Given the description of an element on the screen output the (x, y) to click on. 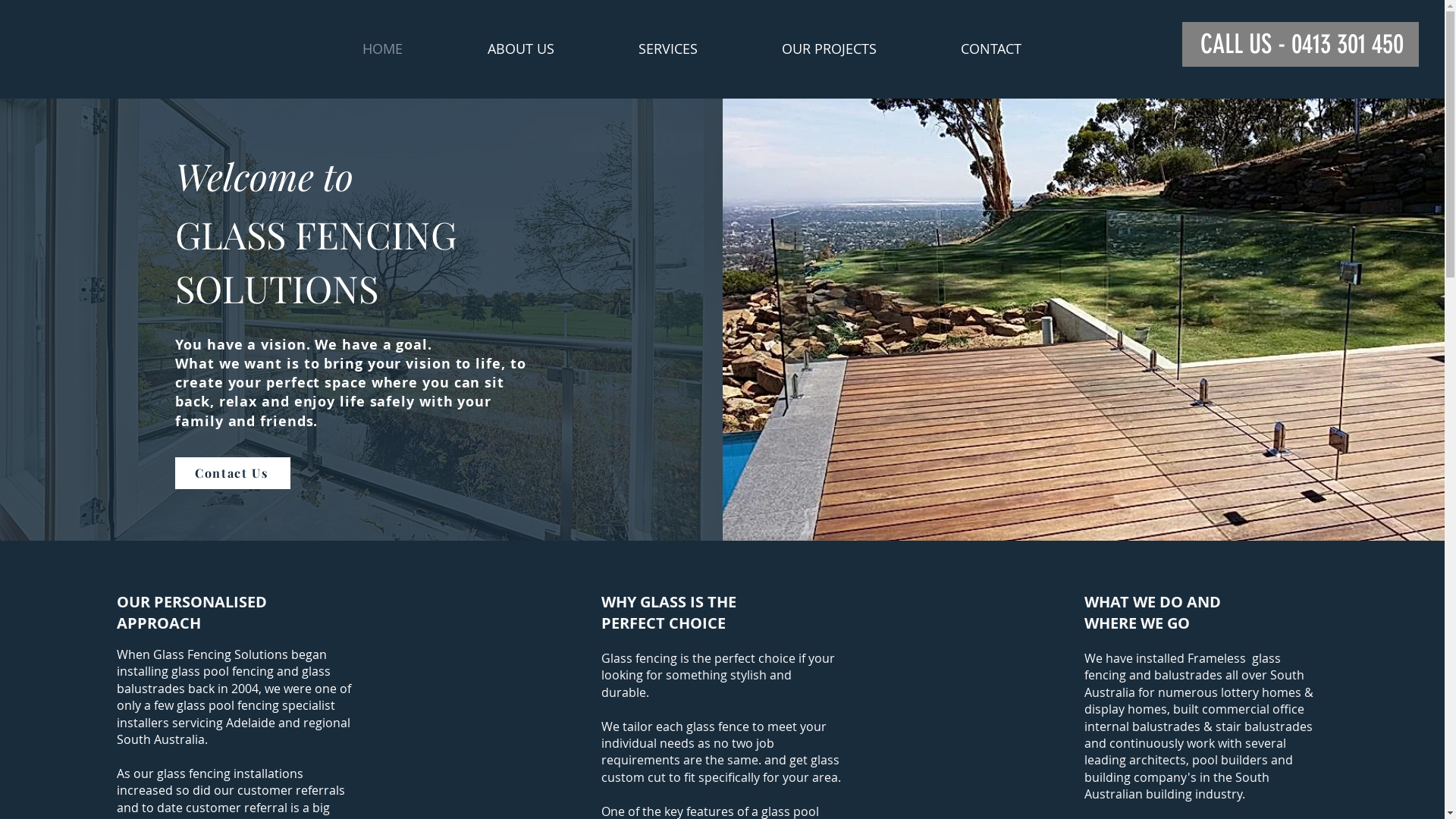
SERVICES Element type: text (697, 48)
OUR PROJECTS Element type: text (859, 48)
HOME Element type: text (412, 48)
CONTACT Element type: text (1021, 48)
Contact Us Element type: text (232, 473)
ABOUT US Element type: text (551, 48)
